Given the description of an element on the screen output the (x, y) to click on. 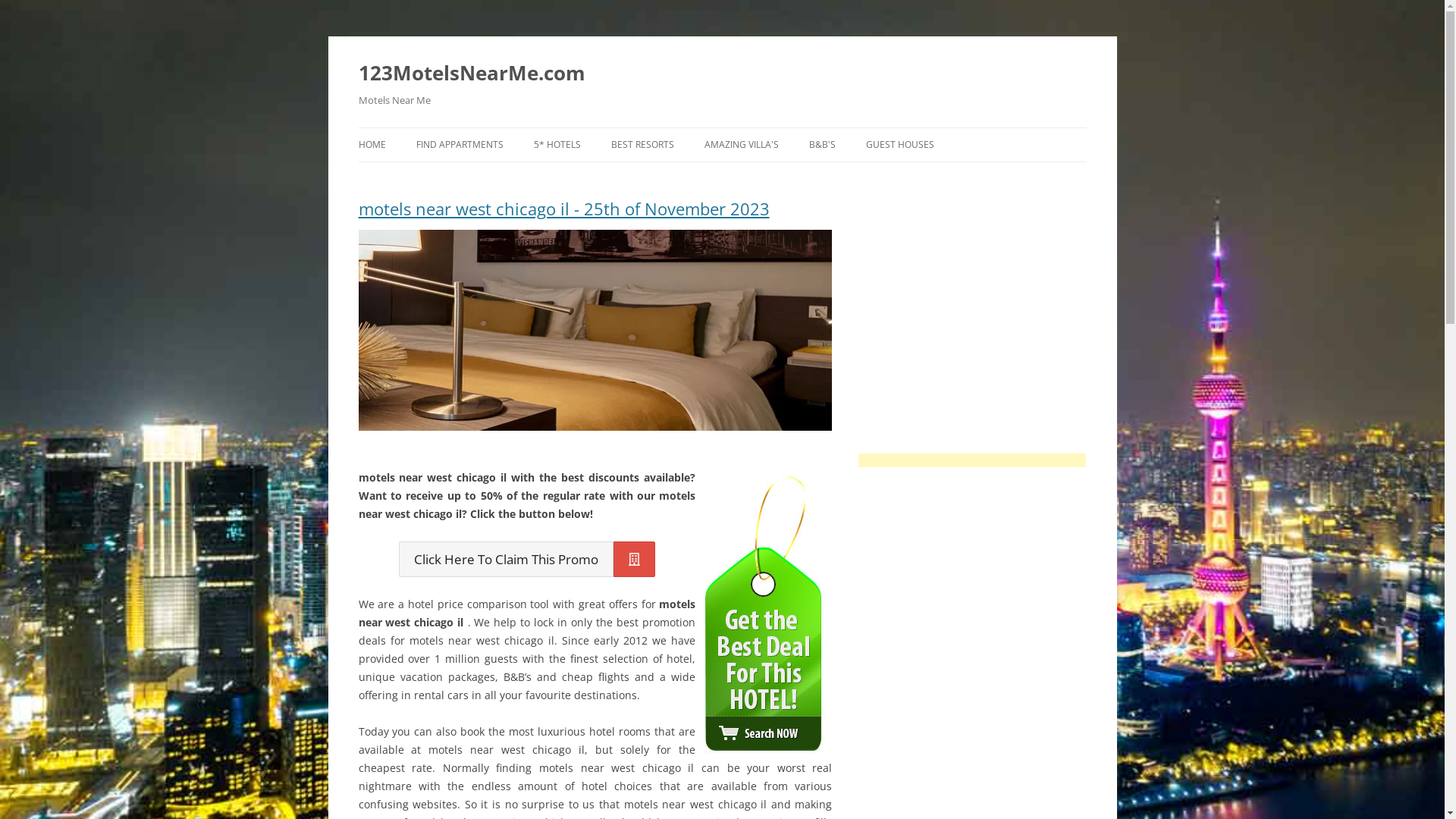
123MotelsNearMe.com Element type: text (470, 72)
AMAZING VILLA'S Element type: text (740, 144)
B&B'S Element type: text (821, 144)
Skip to content Element type: text (721, 127)
HOME Element type: text (371, 144)
5* HOTELS Element type: text (556, 144)
FIND APPARTMENTS Element type: text (458, 144)
Click Here To Claim This Promo Element type: text (526, 559)
BEST RESORTS Element type: text (642, 144)
GUEST HOUSES Element type: text (900, 144)
motels near west chicago il - 25th of November 2023 Element type: text (594, 214)
